Given the description of an element on the screen output the (x, y) to click on. 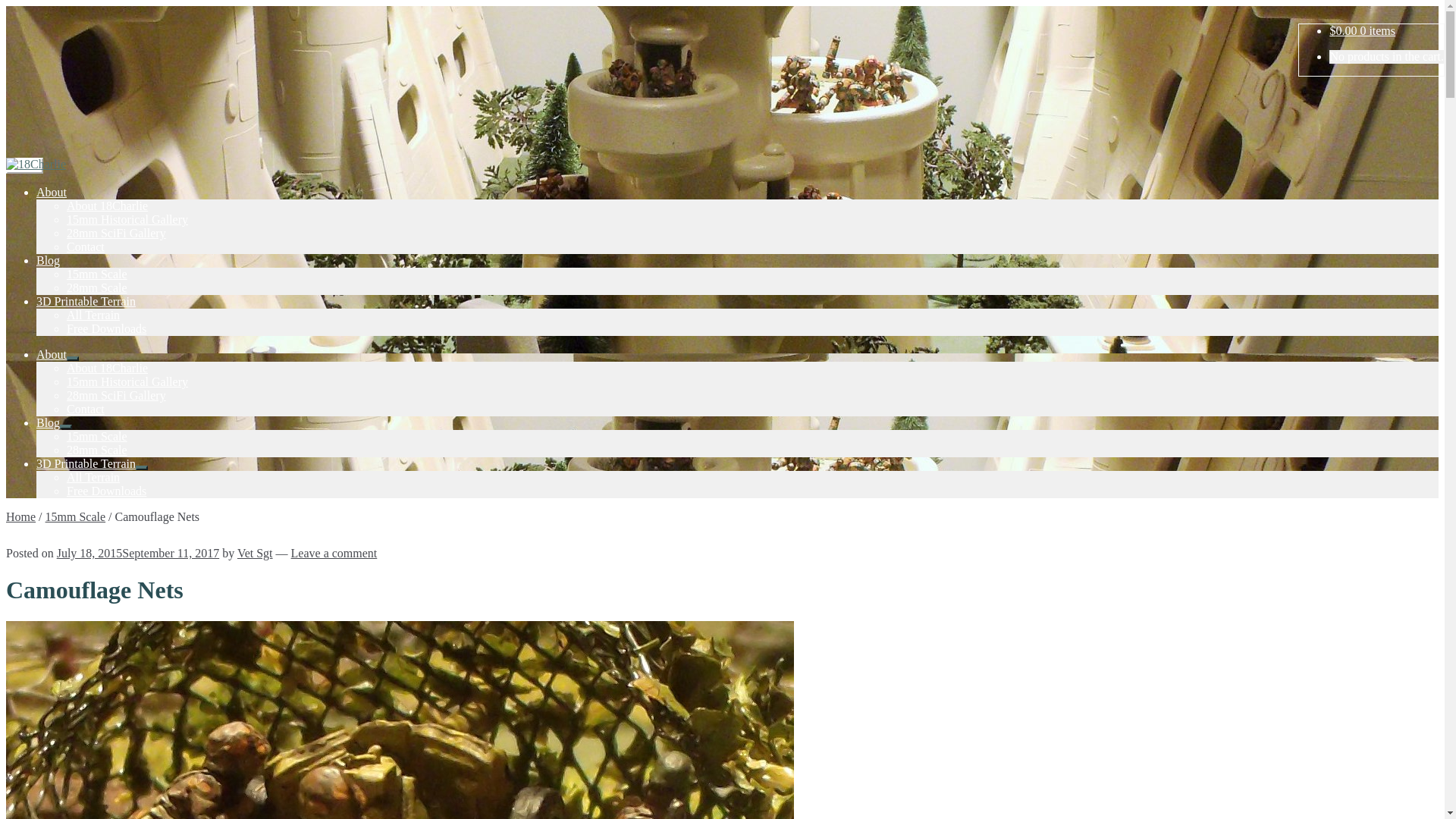
28mm SciFi Gallery Element type: text (116, 232)
15mm Scale Element type: text (96, 273)
Menu Element type: text (24, 165)
3D Printable Terrain Element type: text (85, 300)
28mm Scale Element type: text (96, 449)
15mm Historical Gallery Element type: text (127, 219)
Skip to navigation Element type: text (5, 156)
About 18Charlie Element type: text (106, 205)
15mm Scale Element type: text (75, 516)
$0.00 0 items Element type: text (1362, 30)
Home Element type: text (20, 516)
Contact Element type: text (85, 408)
July 18, 2015September 11, 2017 Element type: text (137, 552)
Free Downloads Element type: text (106, 490)
Expand child menu Element type: text (65, 426)
All Terrain Element type: text (92, 476)
Blog Element type: text (47, 260)
Vet Sgt Element type: text (255, 552)
3D Printable Terrain Element type: text (85, 463)
15mm Scale Element type: text (96, 435)
All Terrain Element type: text (92, 314)
About Element type: text (51, 354)
About 18Charlie Element type: text (106, 367)
28mm SciFi Gallery Element type: text (116, 395)
Expand child menu Element type: text (72, 358)
Contact Element type: text (85, 246)
Blog Element type: text (47, 422)
28mm Scale Element type: text (96, 287)
About Element type: text (51, 191)
Free Downloads Element type: text (106, 328)
Expand child menu Element type: text (141, 467)
15mm Historical Gallery Element type: text (127, 381)
Leave a comment Element type: text (334, 552)
